Given the description of an element on the screen output the (x, y) to click on. 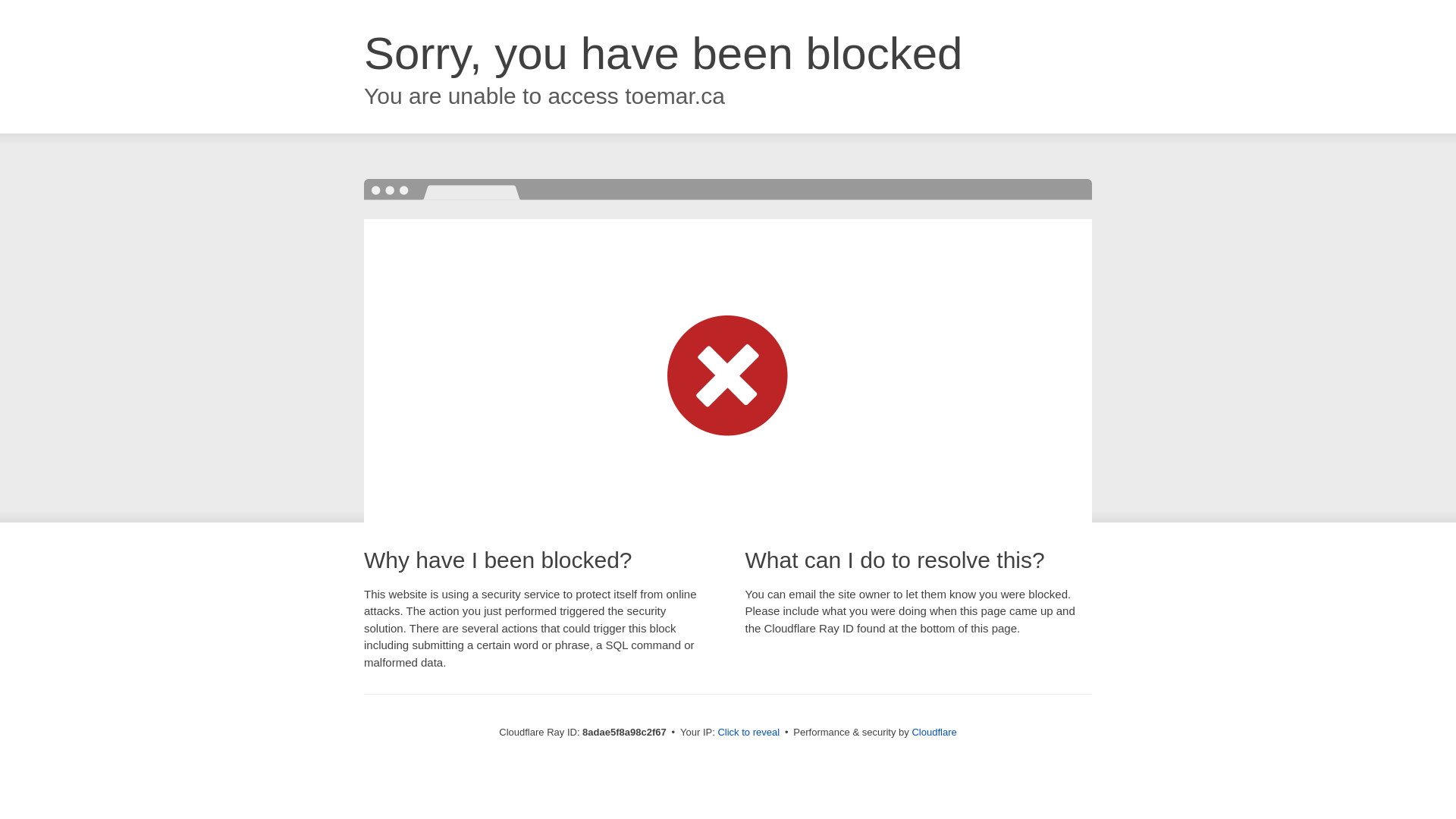
Click to reveal (747, 732)
Cloudflare (933, 731)
